Given the description of an element on the screen output the (x, y) to click on. 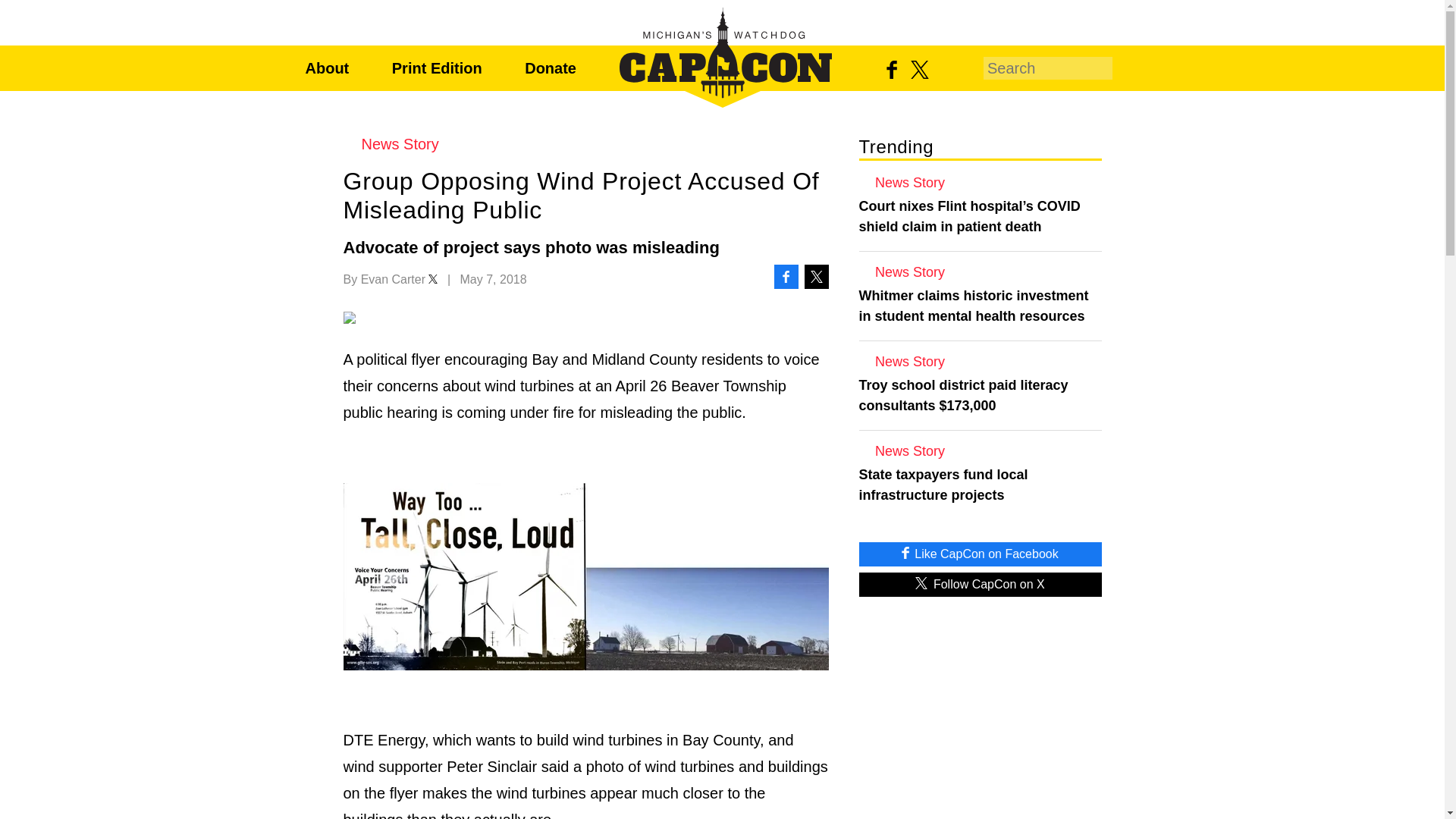
Donate (550, 67)
News Story (585, 143)
About (326, 67)
Like CapCon on Facebook (979, 554)
State taxpayers fund local infrastructure projects (979, 485)
News Story (979, 450)
News Story (979, 182)
Search (1127, 67)
Follow CapCon on X (979, 584)
News Story (979, 361)
